Given the description of an element on the screen output the (x, y) to click on. 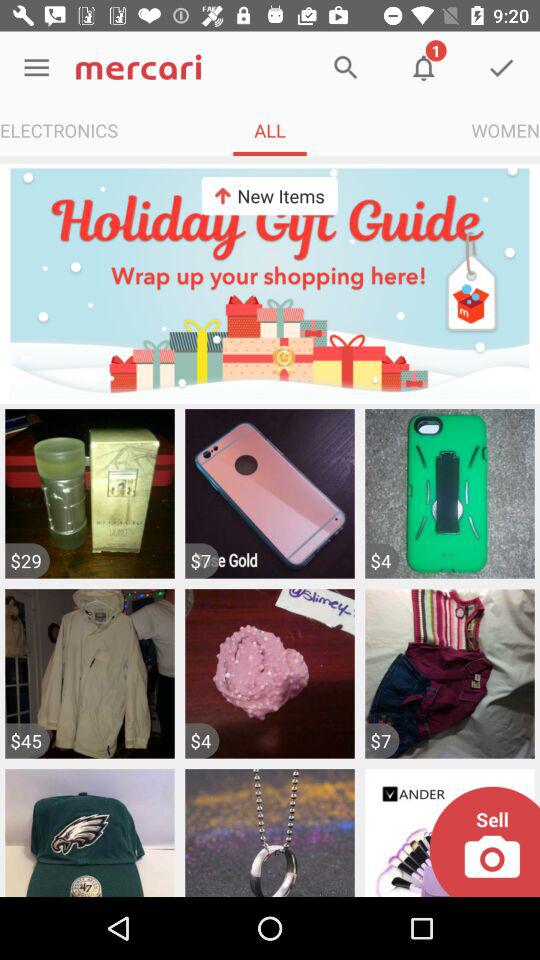
open holiday gift guide (270, 283)
